Given the description of an element on the screen output the (x, y) to click on. 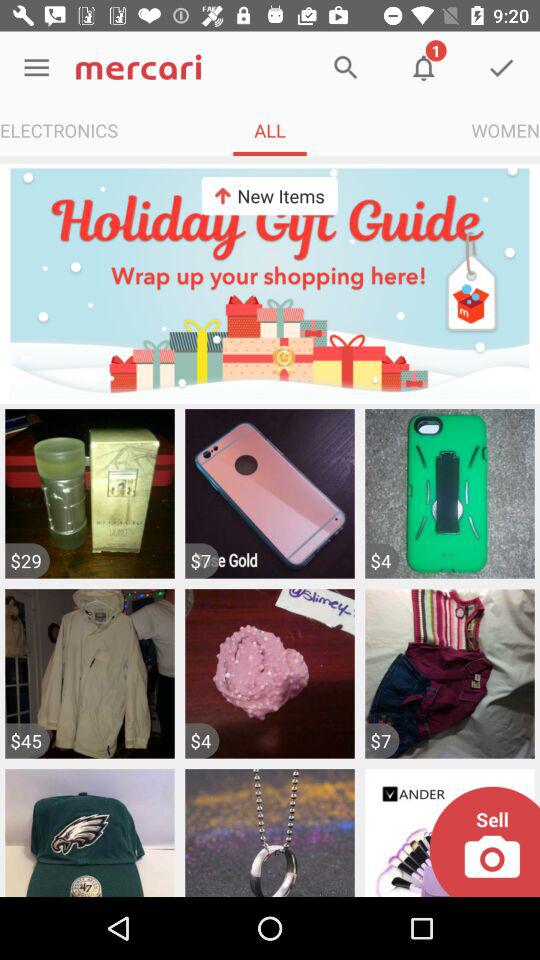
open holiday gift guide (270, 283)
